Given the description of an element on the screen output the (x, y) to click on. 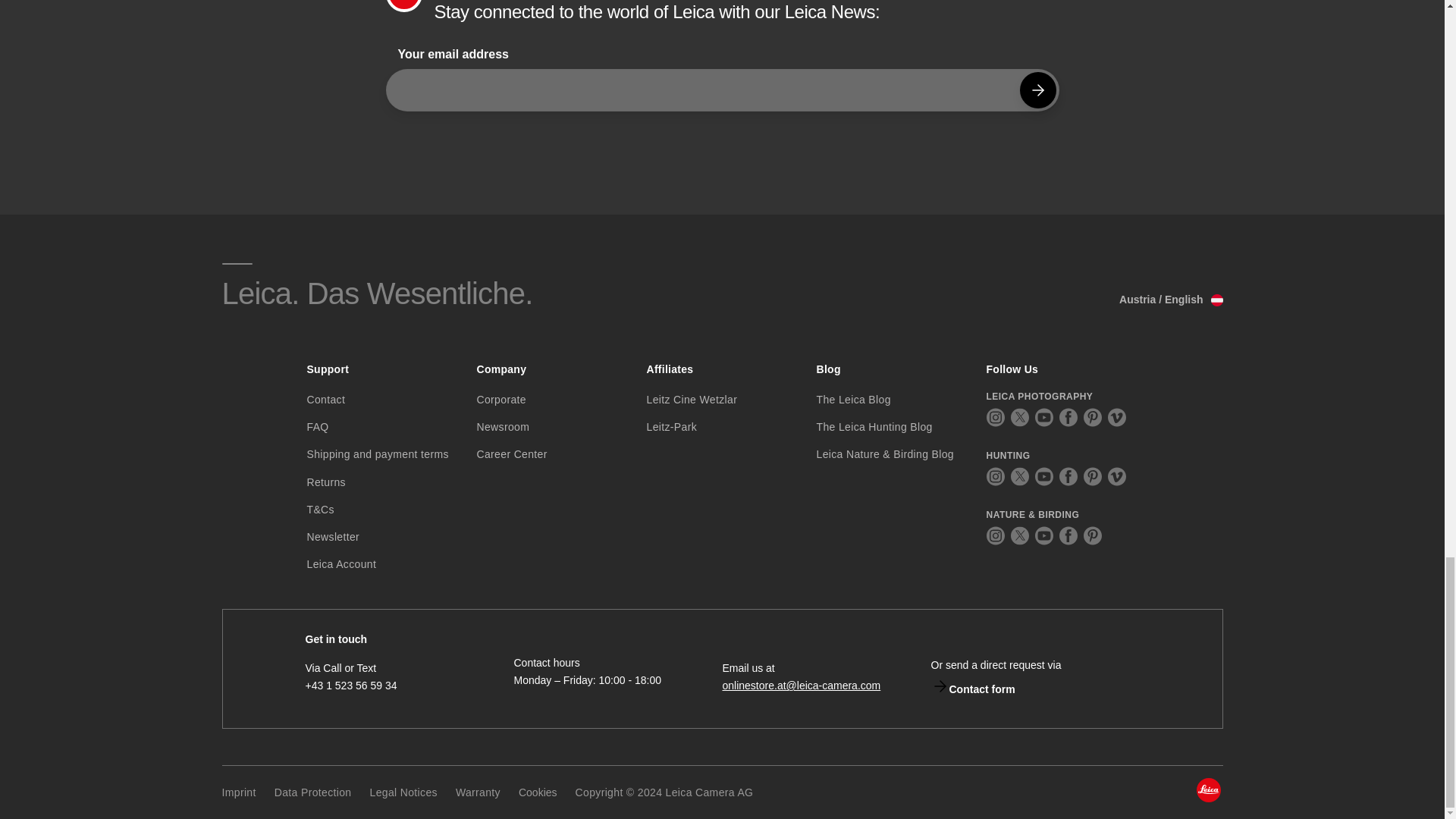
Continue your subscription to the Leica Camera newsletter (1037, 90)
Link to Cookies settings pop-up (537, 792)
Contact form (972, 689)
